Given the description of an element on the screen output the (x, y) to click on. 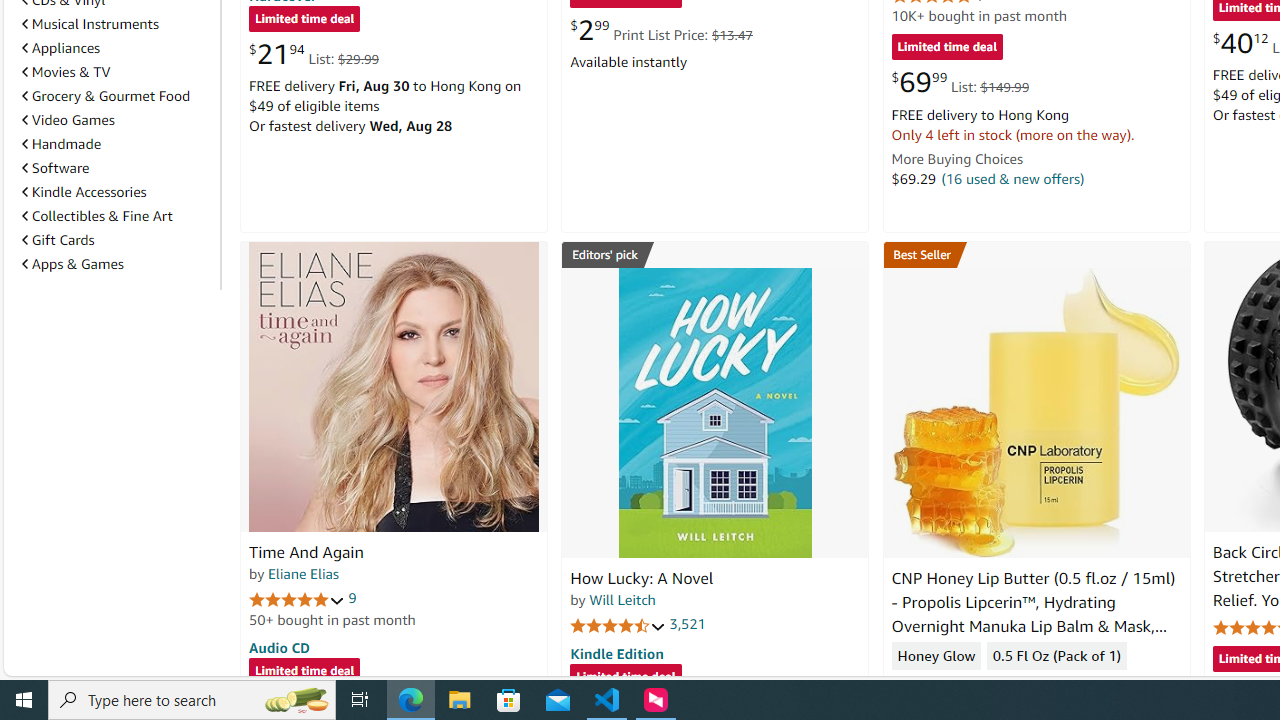
Limited time deal (625, 678)
Eliane Elias (303, 573)
Time And Again (393, 386)
Kindle Accessories (117, 192)
$2.99 Print List Price: $13.47 (660, 30)
Best Seller in Lip Butters (1036, 254)
Video Games (117, 120)
Audio CD (279, 646)
Apps & Games (117, 264)
Kindle Edition (616, 653)
Gift Cards (117, 239)
Time And Again (306, 552)
$69.99 List: $149.99 (960, 82)
